Given the description of an element on the screen output the (x, y) to click on. 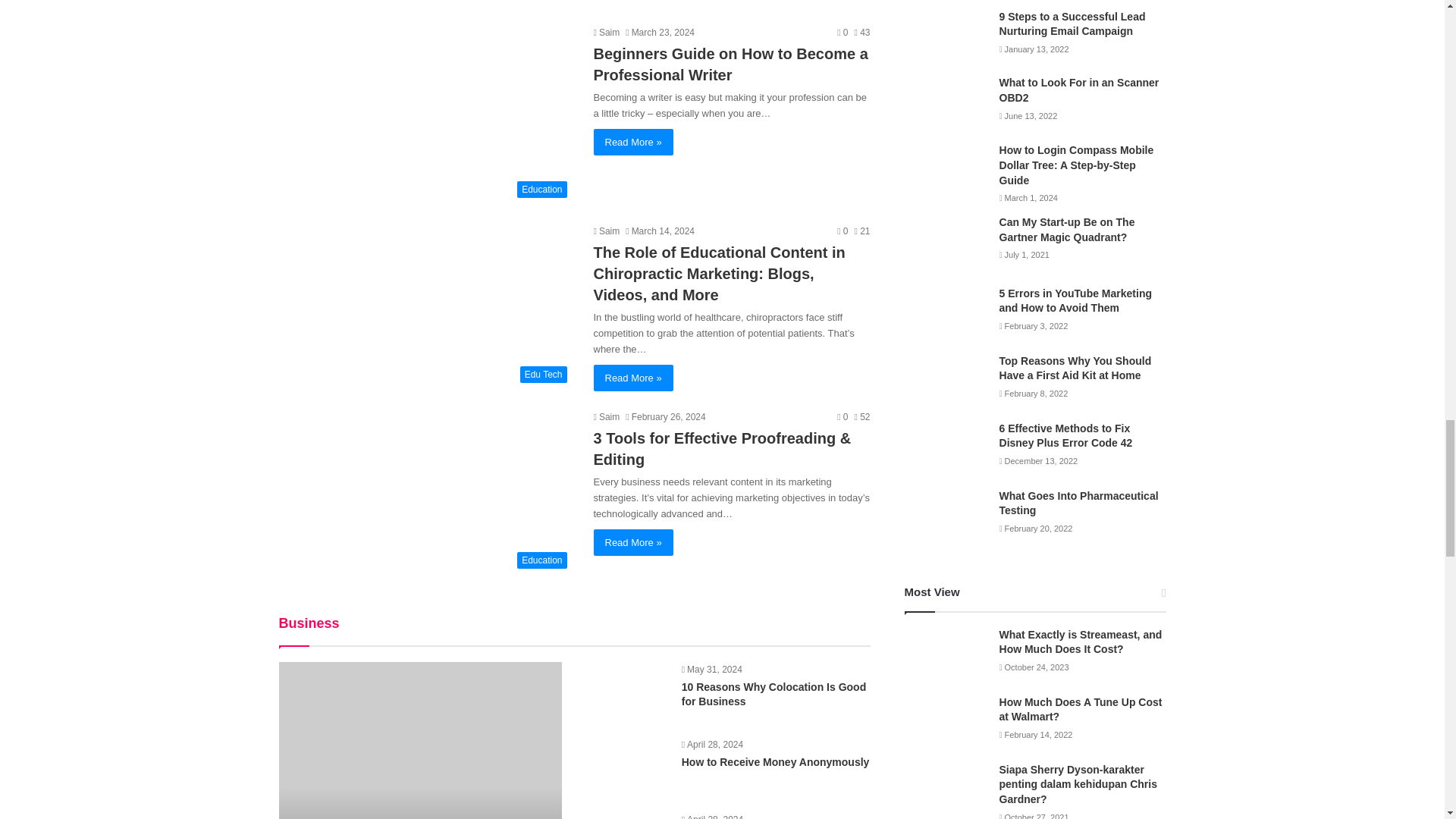
Saim (606, 231)
Saim (606, 32)
Saim (606, 416)
